Given the description of an element on the screen output the (x, y) to click on. 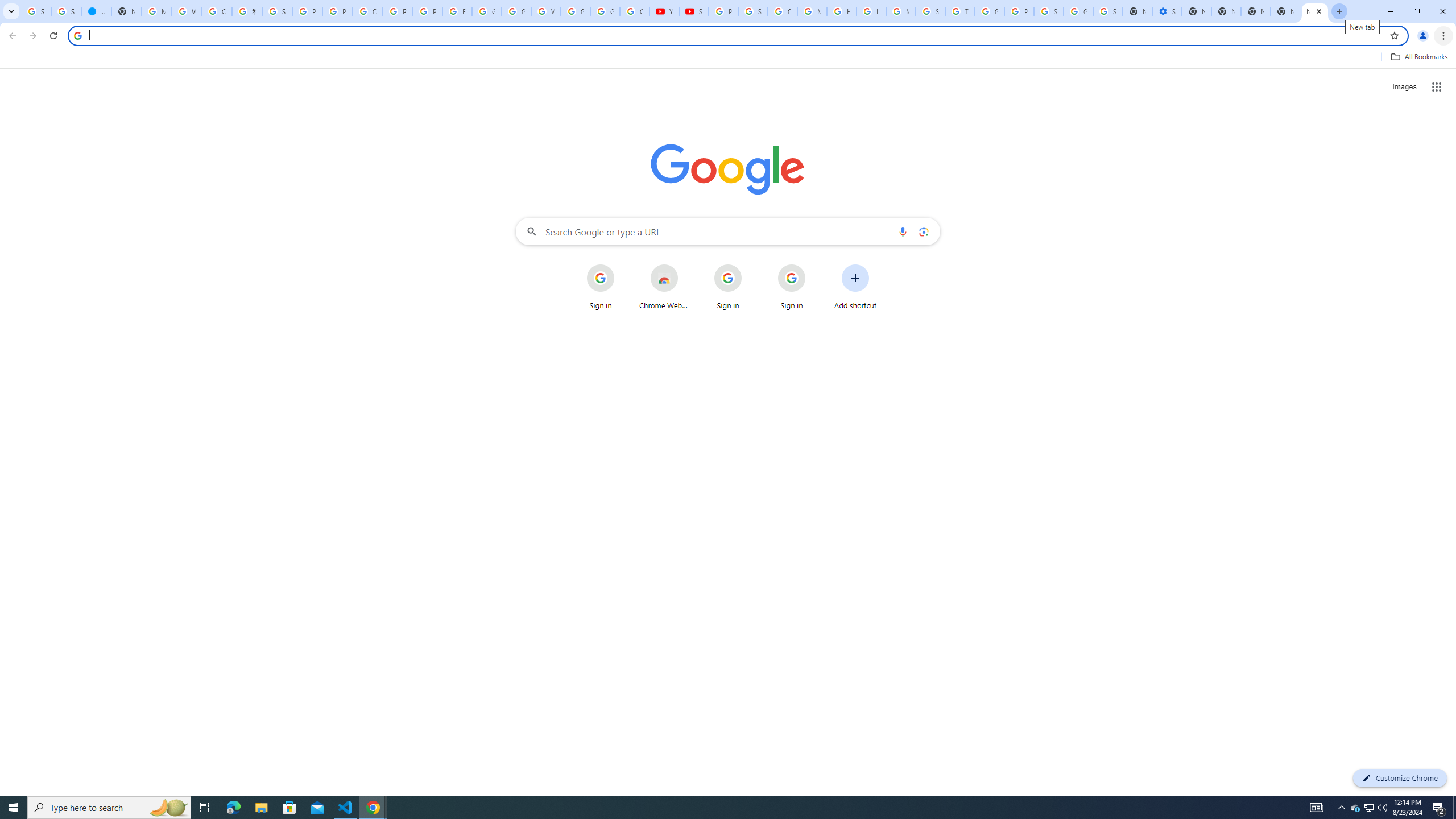
Trusted Information and Content - Google Safety Center (959, 11)
Google Ads - Sign in (989, 11)
More actions for Chrome Web Store shortcut (686, 265)
Google Account (604, 11)
New Tab (1284, 11)
Sign in - Google Accounts (277, 11)
Create your Google Account (216, 11)
